Given the description of an element on the screen output the (x, y) to click on. 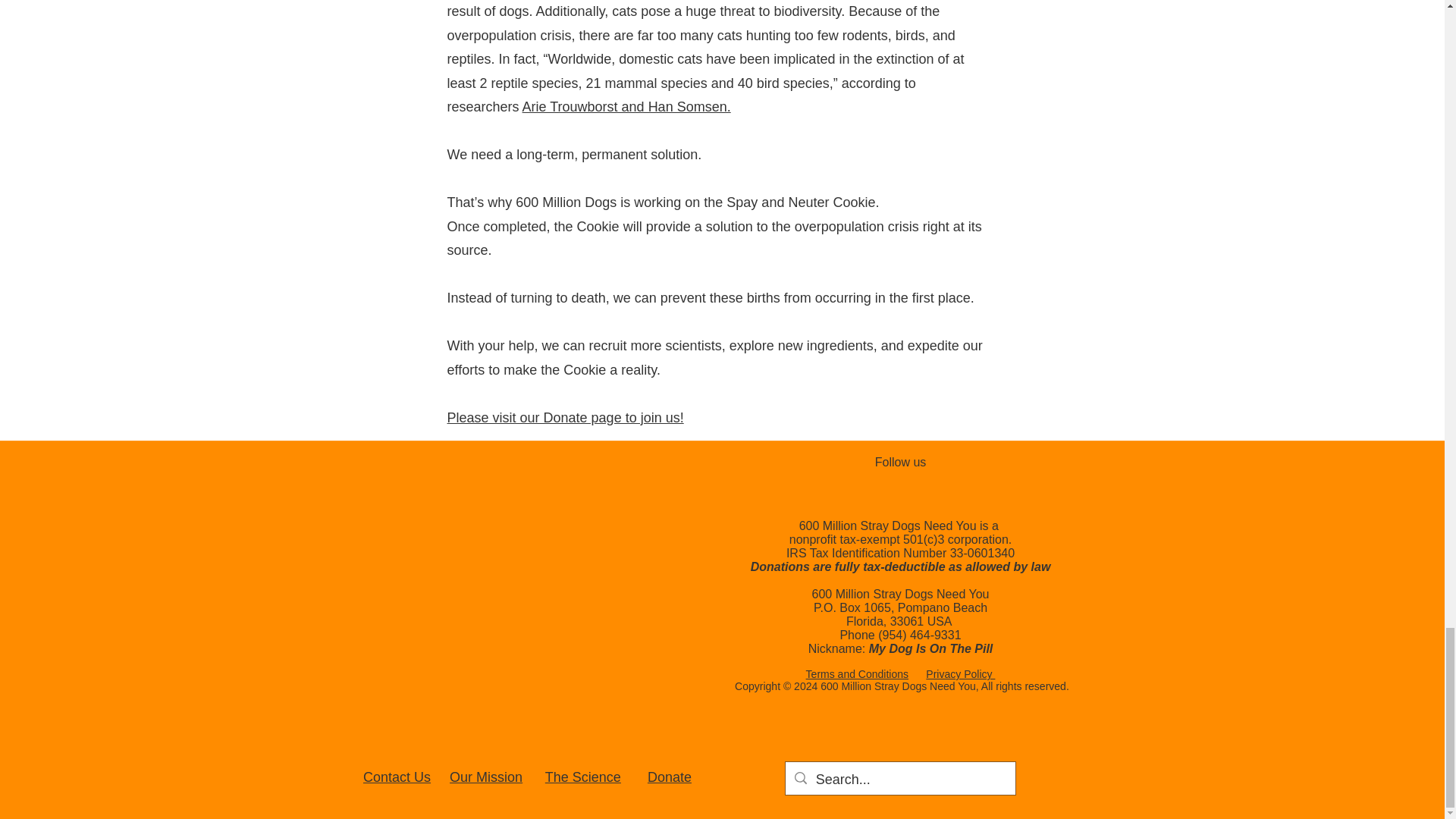
Contact Us (396, 776)
Terms and Conditions (857, 674)
Arie Trouwborst and Han Somsen. (626, 106)
The Science (582, 776)
Privacy Policy  (960, 674)
Donate (669, 776)
Please visit our Donate page to join us! (565, 417)
Our Mission (485, 776)
